Given the description of an element on the screen output the (x, y) to click on. 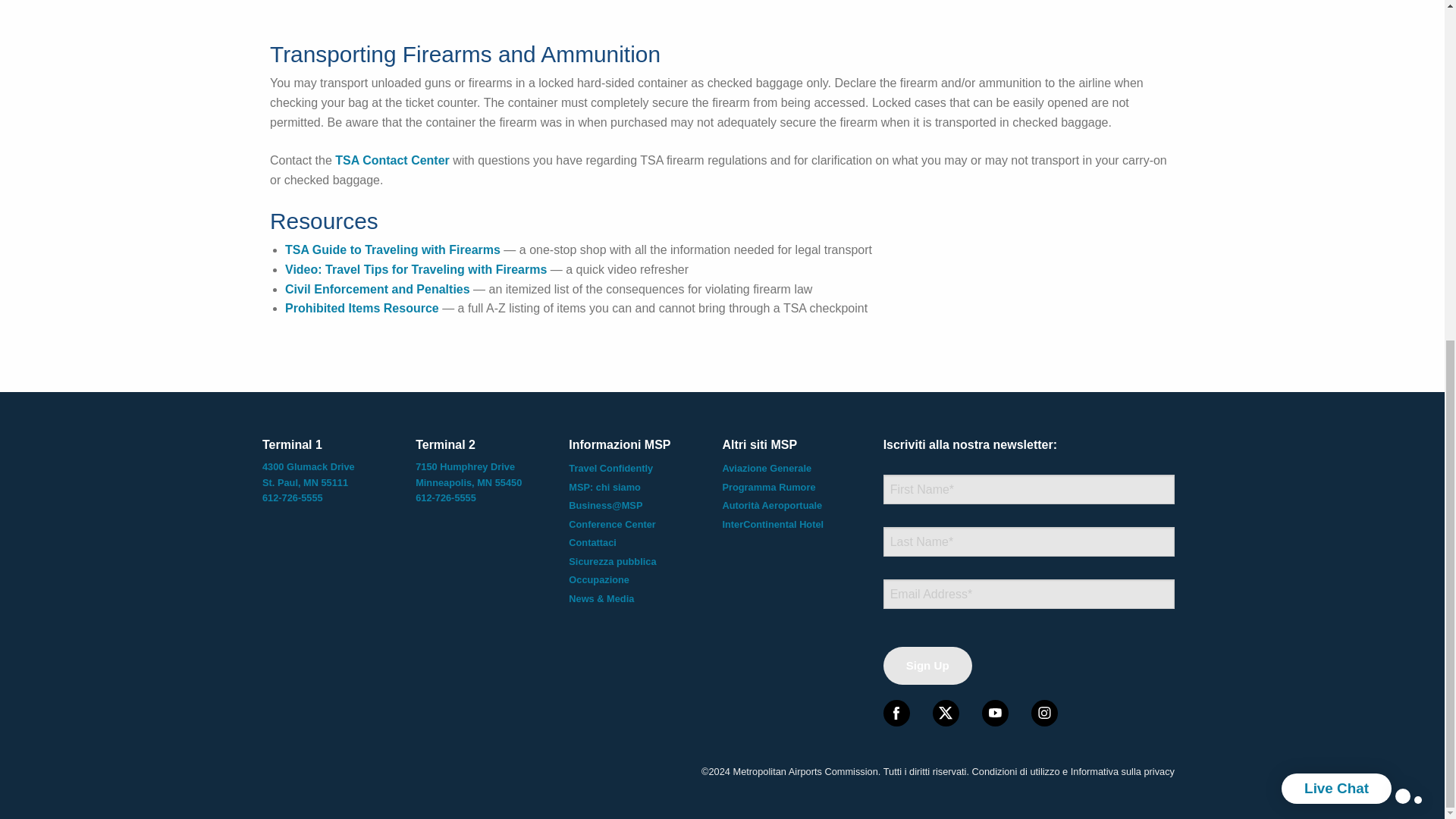
Sign Up (927, 665)
